Given the description of an element on the screen output the (x, y) to click on. 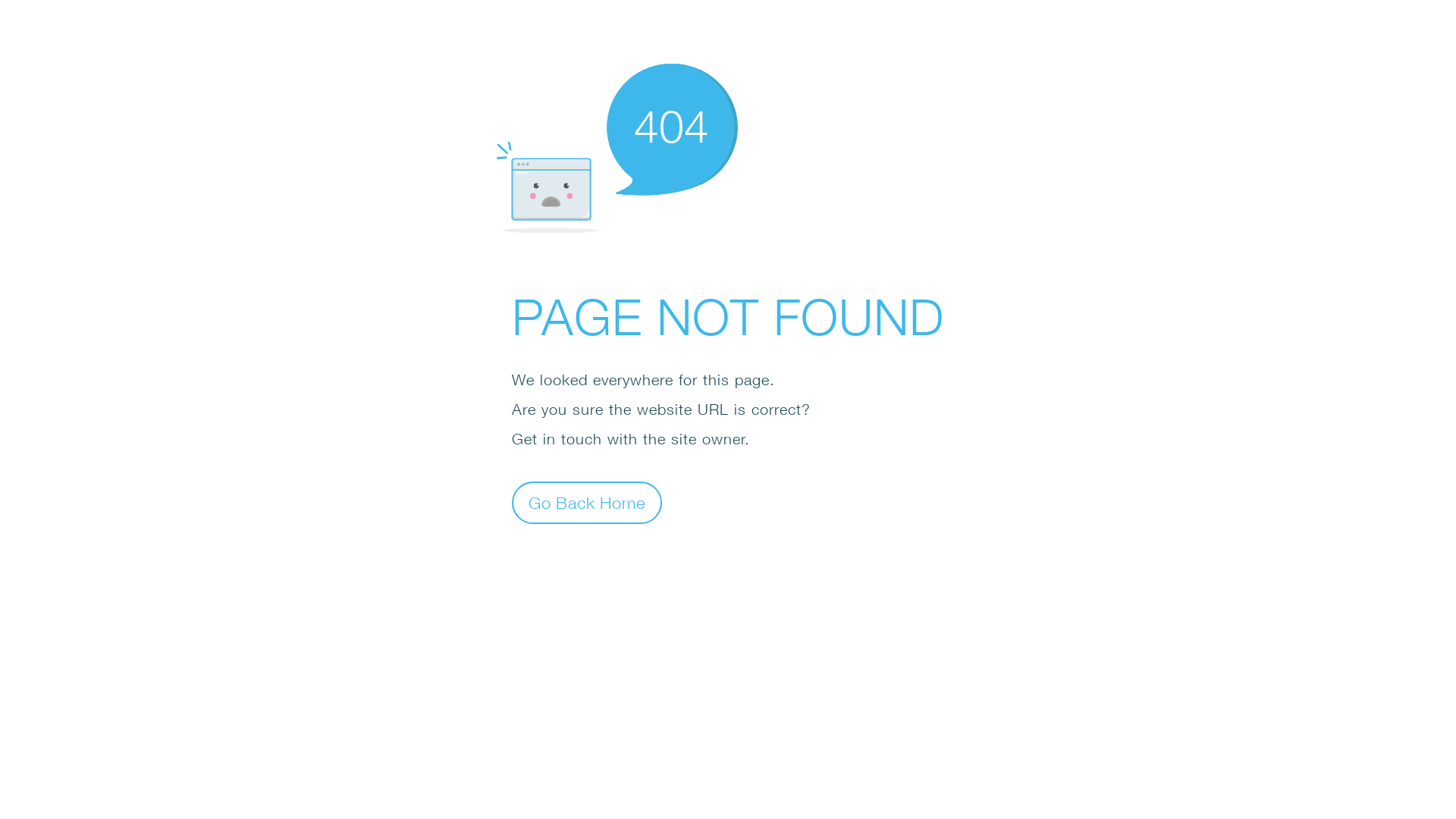
Go Back Home Element type: text (586, 502)
